Given the description of an element on the screen output the (x, y) to click on. 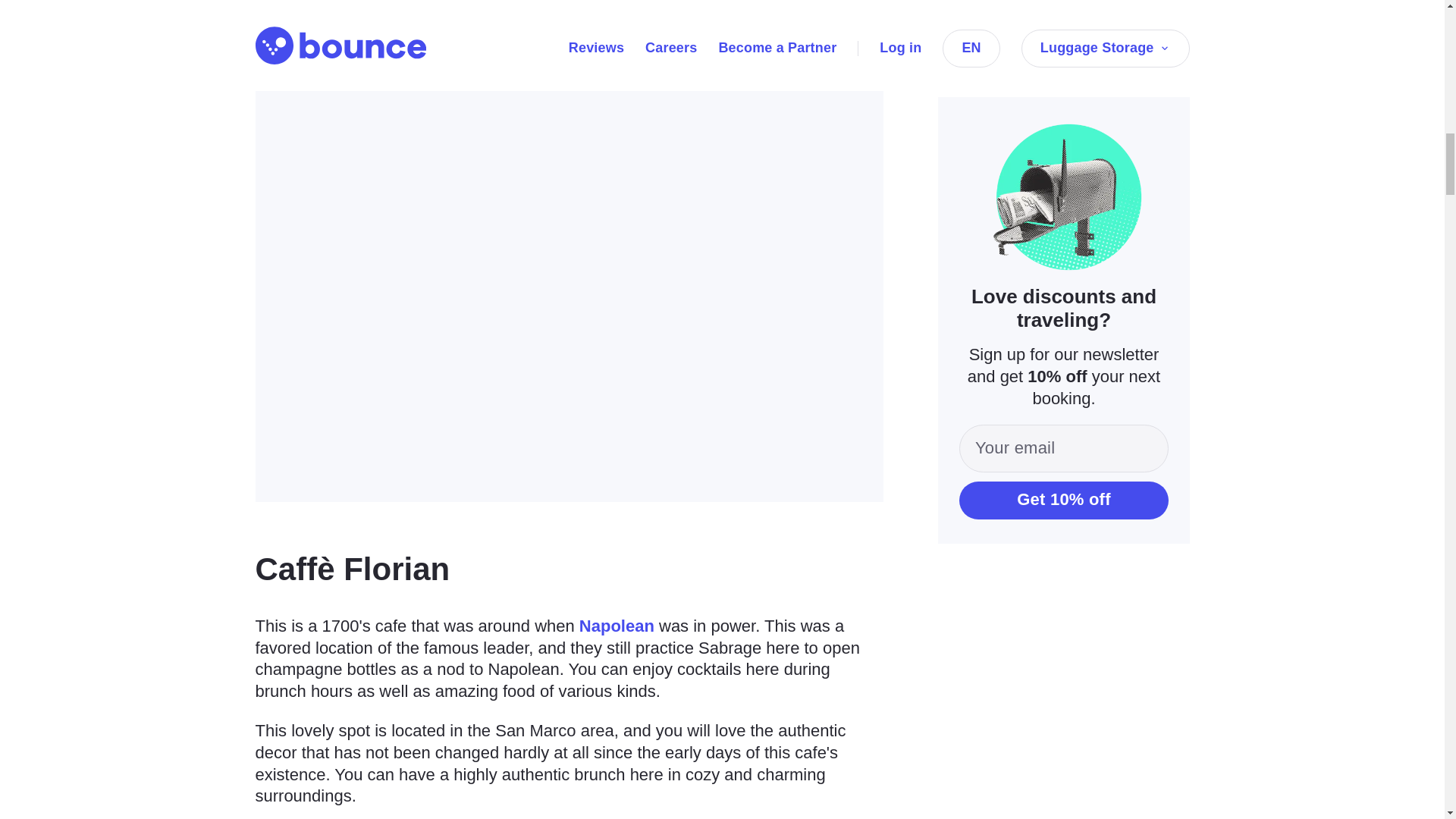
Napolean (616, 625)
